Given the description of an element on the screen output the (x, y) to click on. 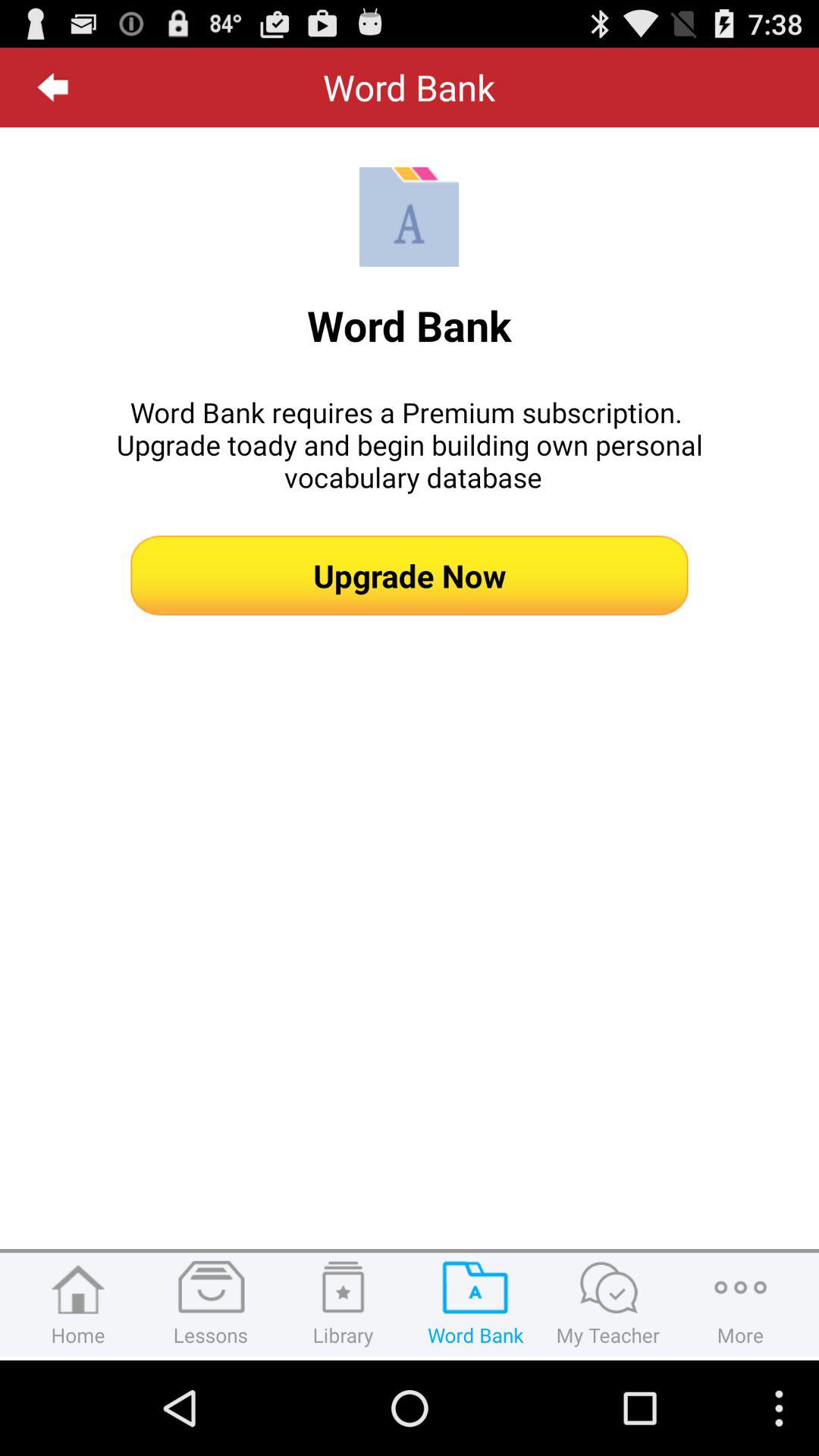
press the icon at the top left corner (53, 87)
